Given the description of an element on the screen output the (x, y) to click on. 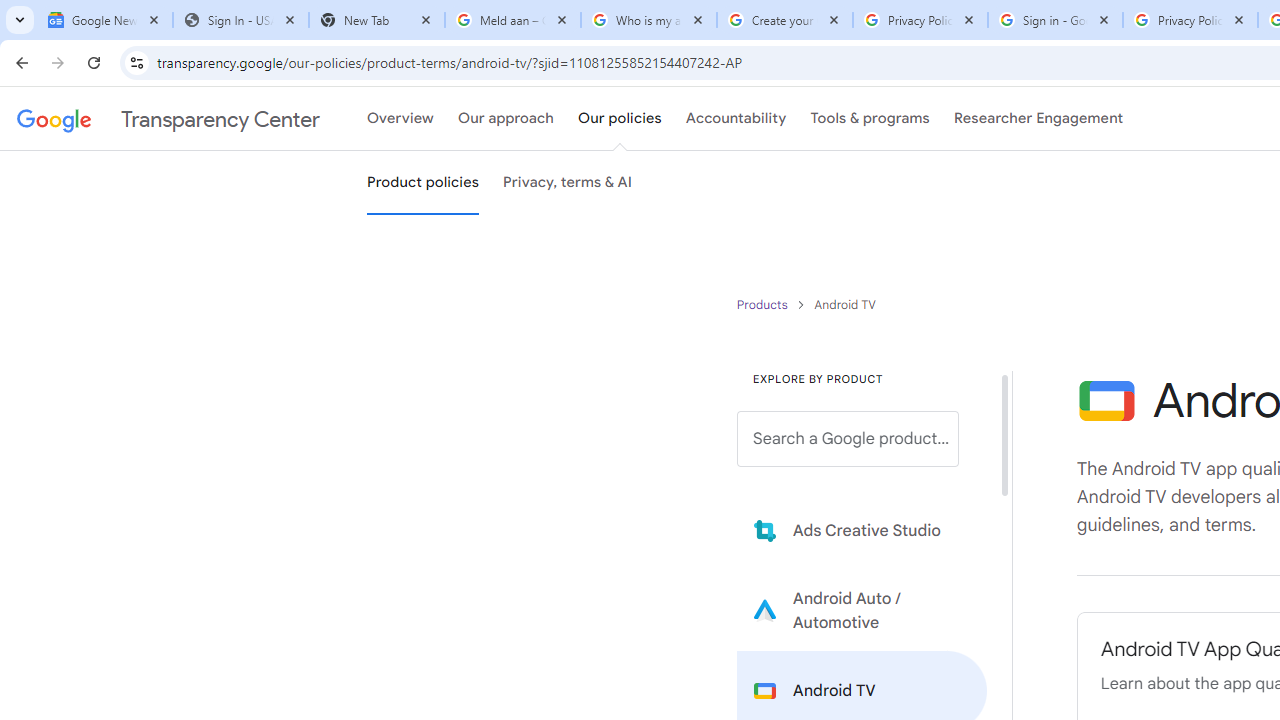
Learn more about Android Auto (862, 610)
Our policies (619, 119)
